Given the description of an element on the screen output the (x, y) to click on. 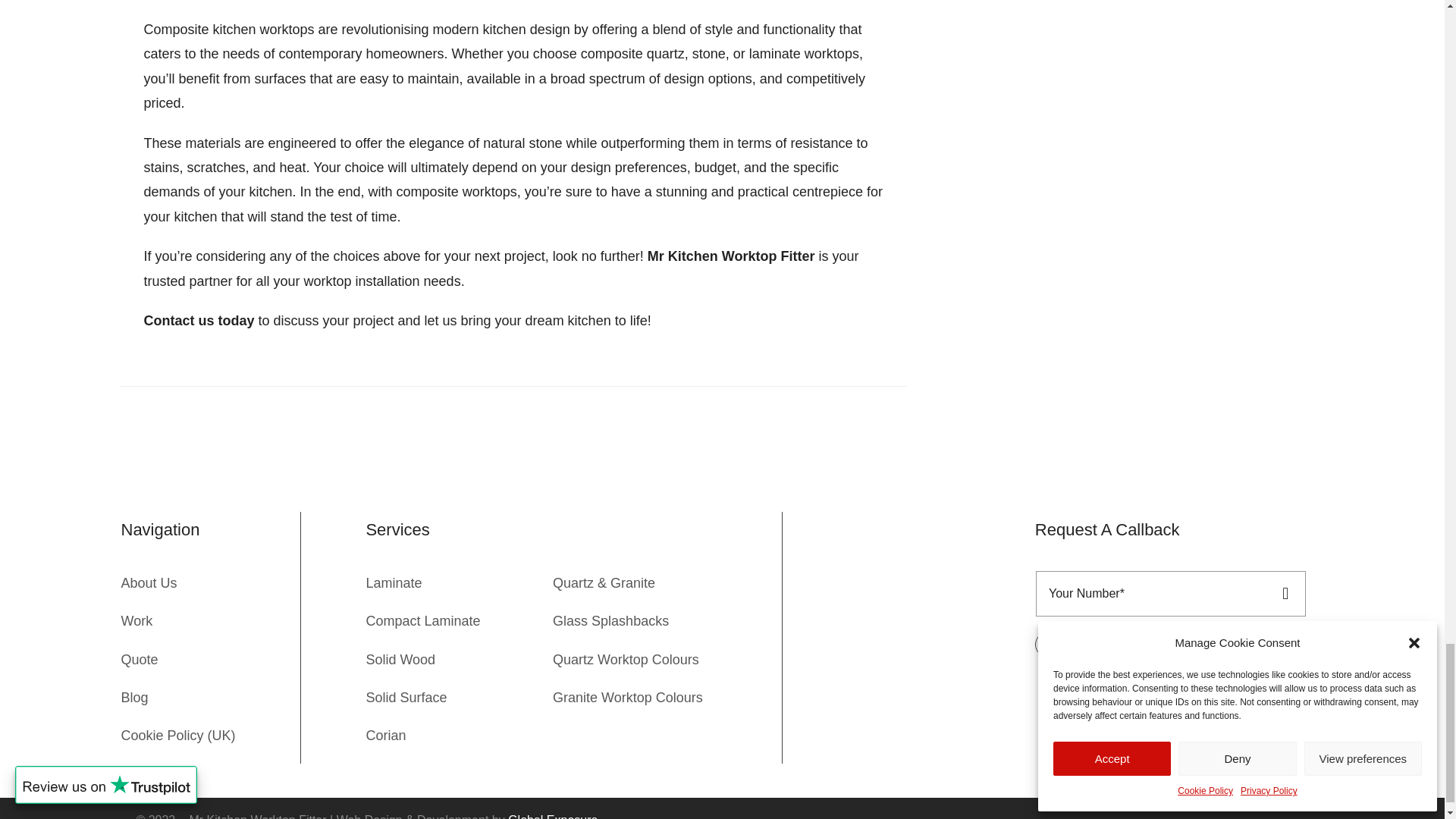
Only numbers and phone characters are accepted. (1147, 593)
